Given the description of an element on the screen output the (x, y) to click on. 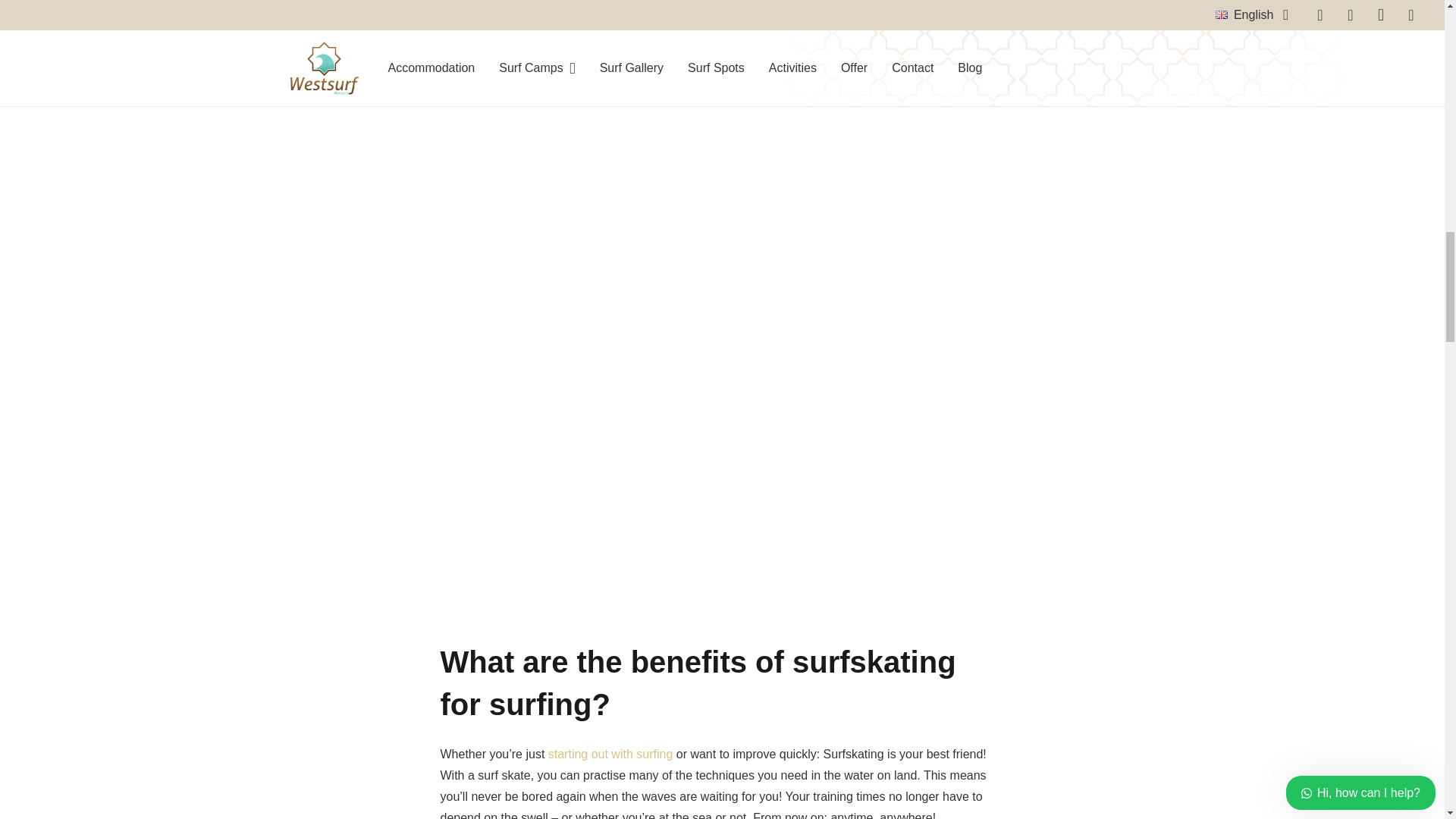
starting out with surfing (610, 753)
